Given the description of an element on the screen output the (x, y) to click on. 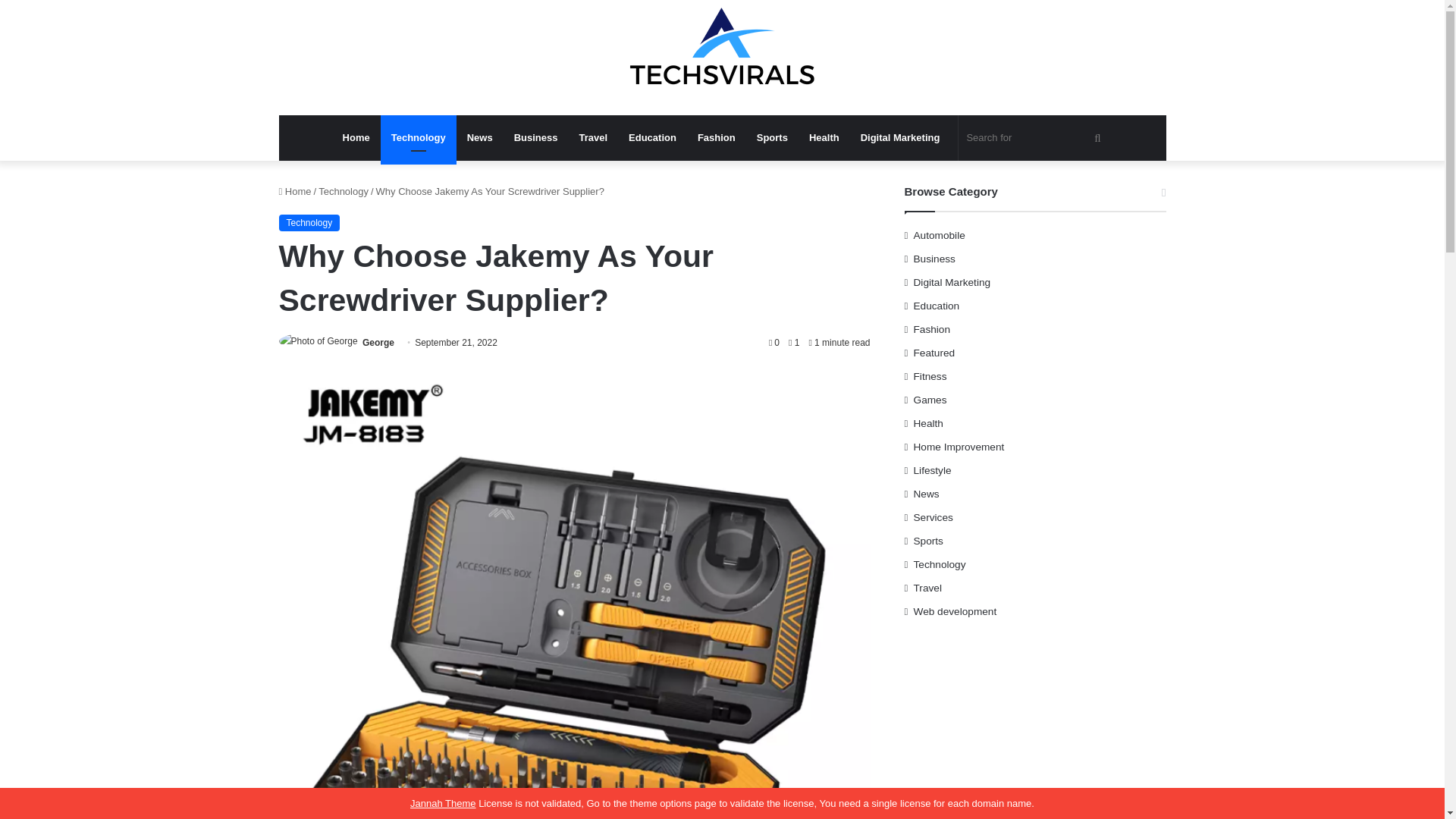
Technology (418, 137)
Health (823, 137)
Business (536, 137)
News (480, 137)
Travel (592, 137)
Technology (309, 222)
Home (355, 137)
Search for (1035, 137)
Technology (343, 191)
Digital Marketing (900, 137)
My Blog (721, 57)
Home (295, 191)
George (378, 342)
Education (652, 137)
Sports (771, 137)
